Given the description of an element on the screen output the (x, y) to click on. 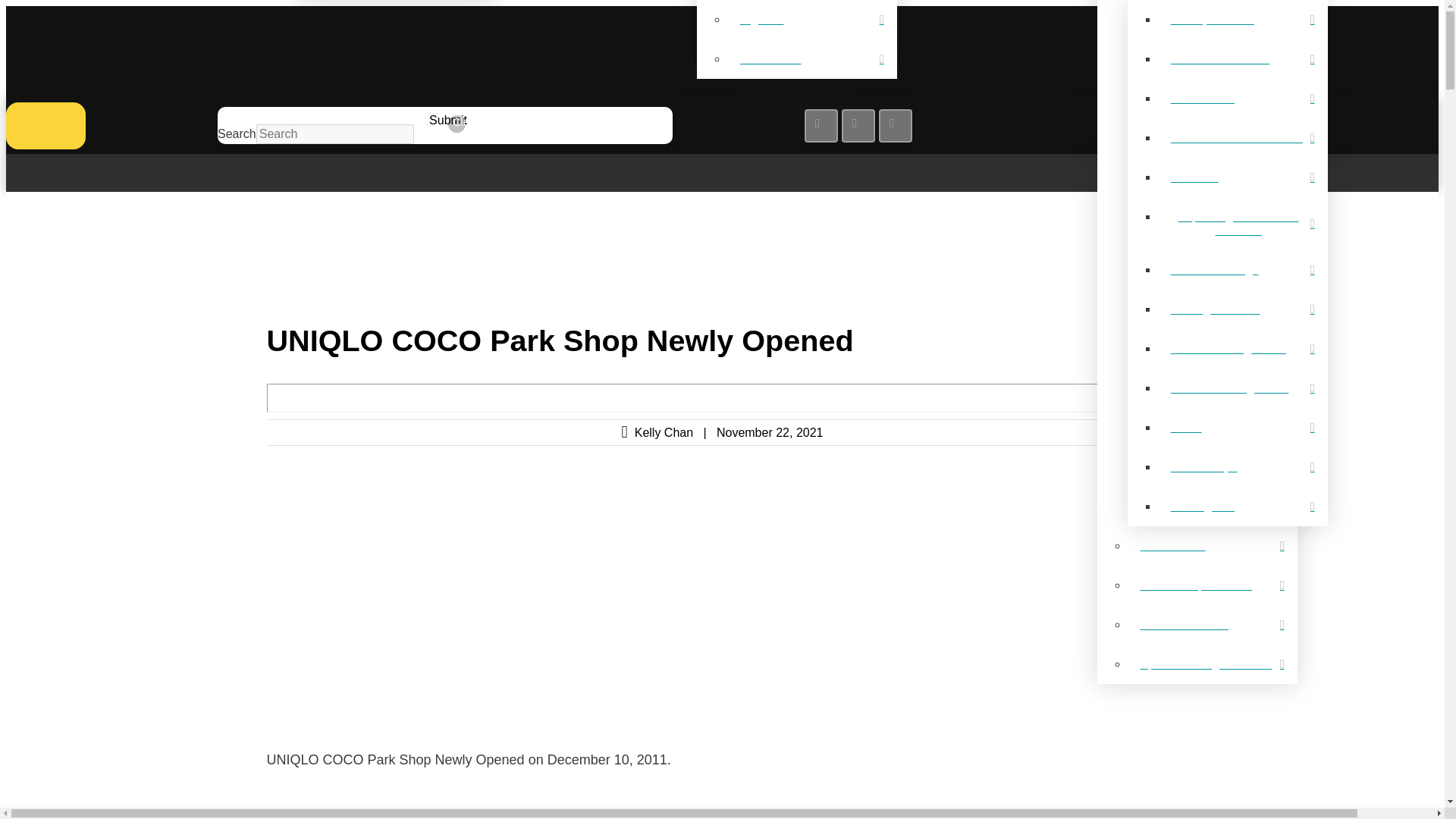
SearchSubmitClear (721, 125)
Clear (456, 123)
Nightlife (811, 19)
SearchSubmitClear (721, 125)
Submit (430, 119)
